Given the description of an element on the screen output the (x, y) to click on. 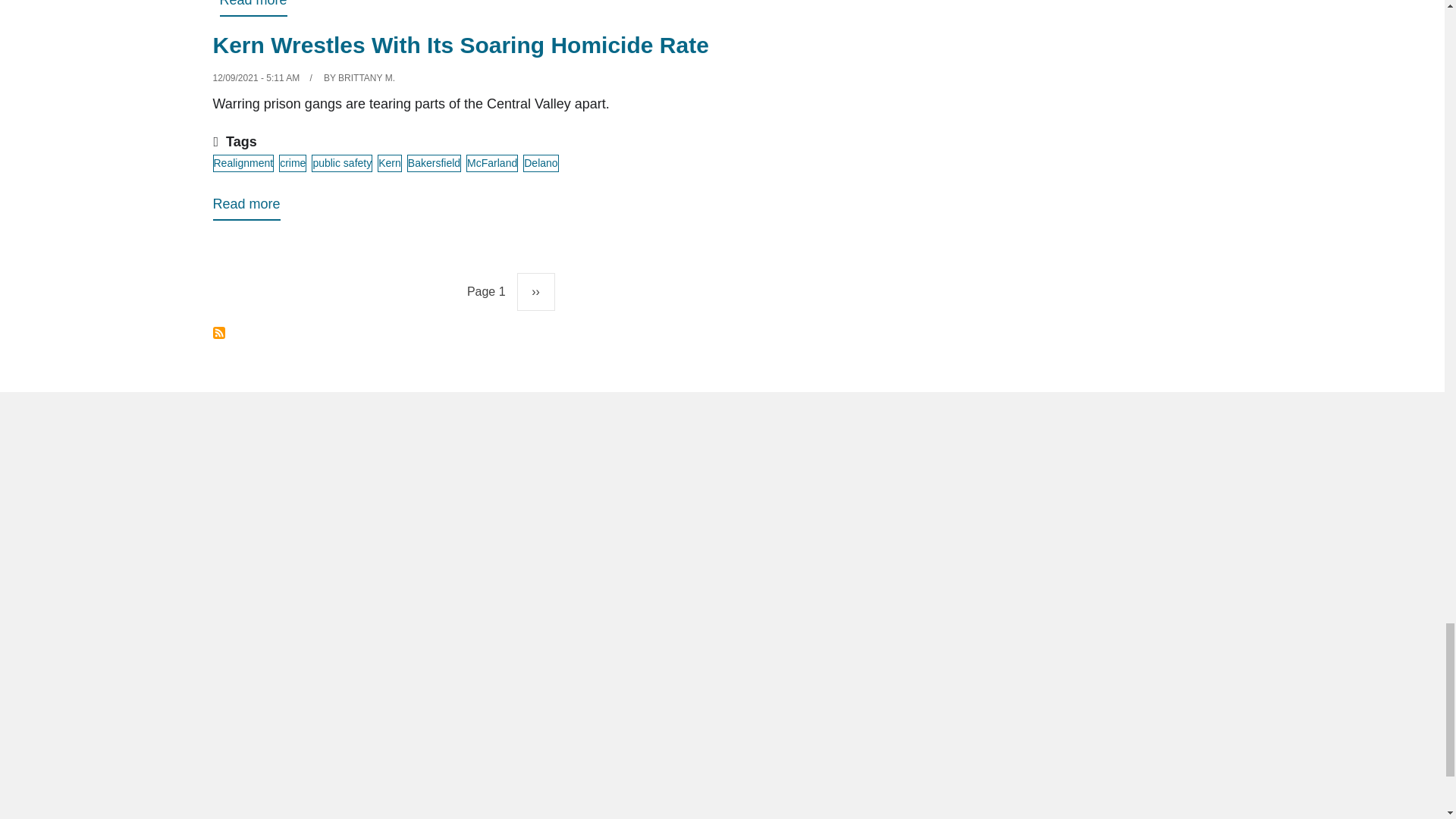
Kern Wrestles With Its Soaring Homicide Rate (245, 207)
The 10 Largest Cities With No Pot Dispensaries (252, 8)
Go to next page (535, 291)
